Given the description of an element on the screen output the (x, y) to click on. 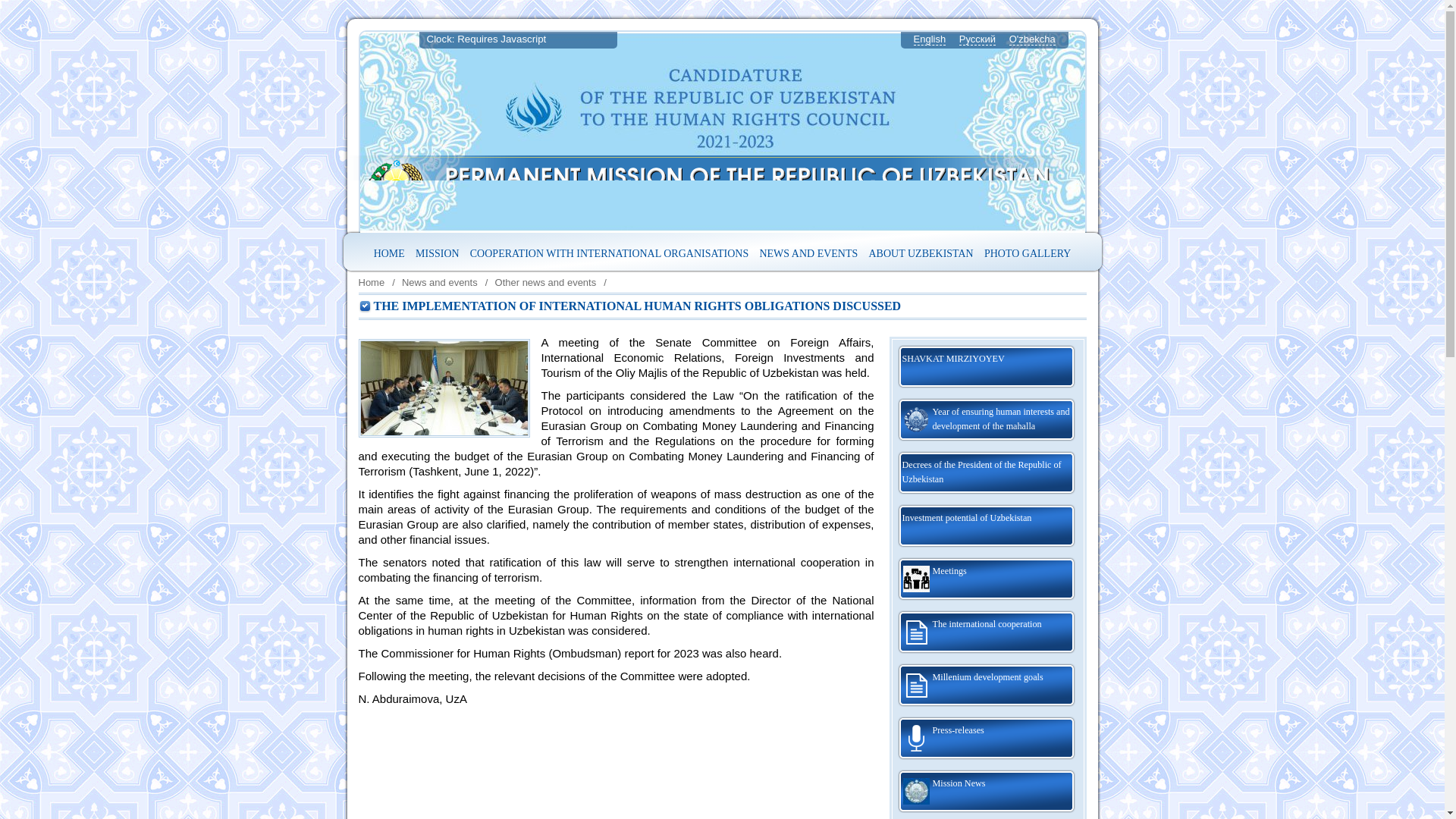
Clock: Requires Javascript (517, 39)
The international cooperation (985, 632)
Decrees of the President of the Republic of Uzbekistan (985, 473)
ABOUT UZBEKISTAN (920, 253)
Mission News (985, 791)
MISSION (437, 253)
SHAVKAT MIRZIYOYEV (985, 366)
News and events (808, 253)
SHAVKAT MIRZIYOYEV (985, 366)
Mission (437, 253)
